Given the description of an element on the screen output the (x, y) to click on. 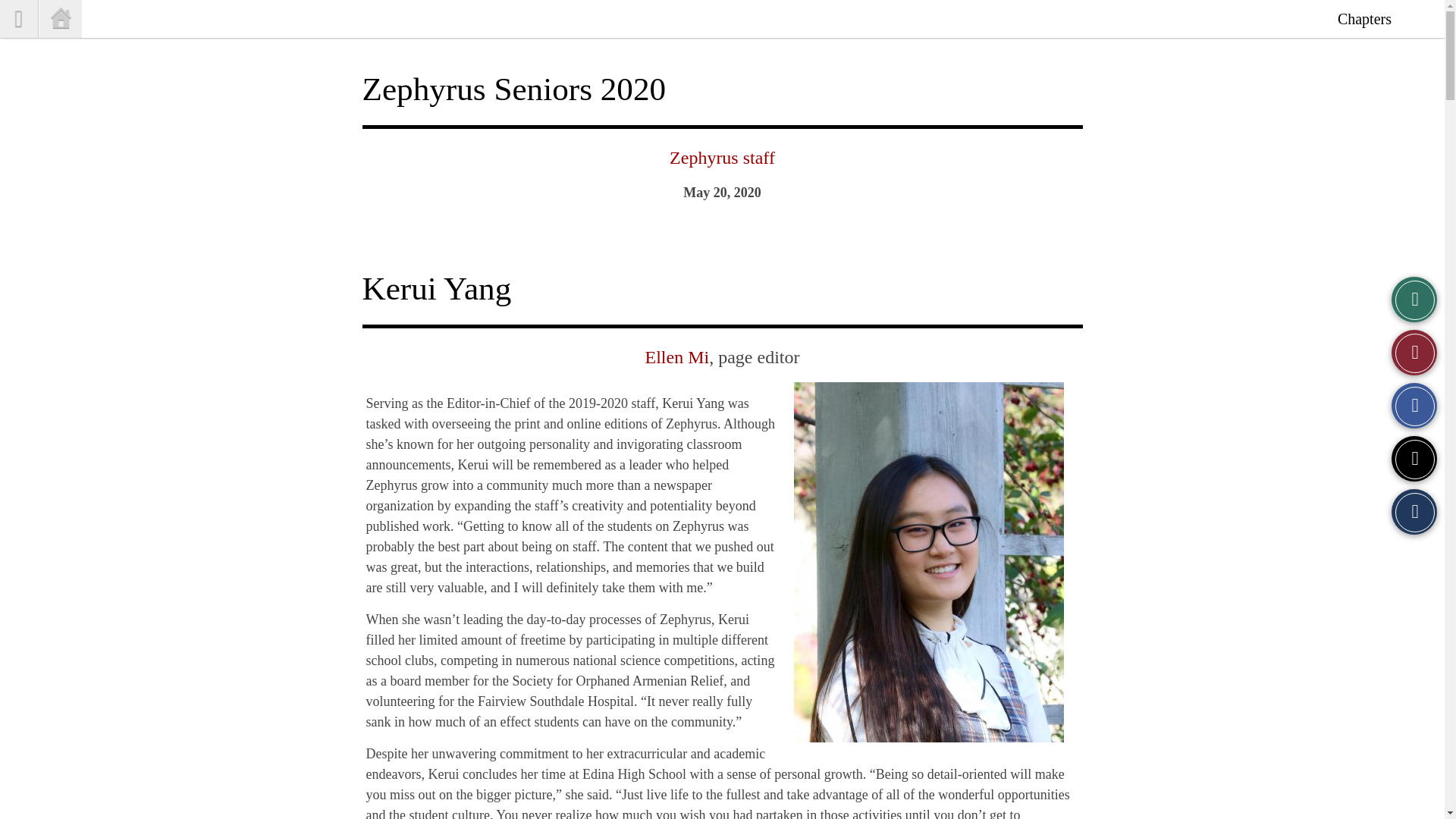
Tweet This Story (1414, 458)
Email this Story (1414, 511)
Share on Facebook (1414, 405)
Chapters (1364, 18)
